Given the description of an element on the screen output the (x, y) to click on. 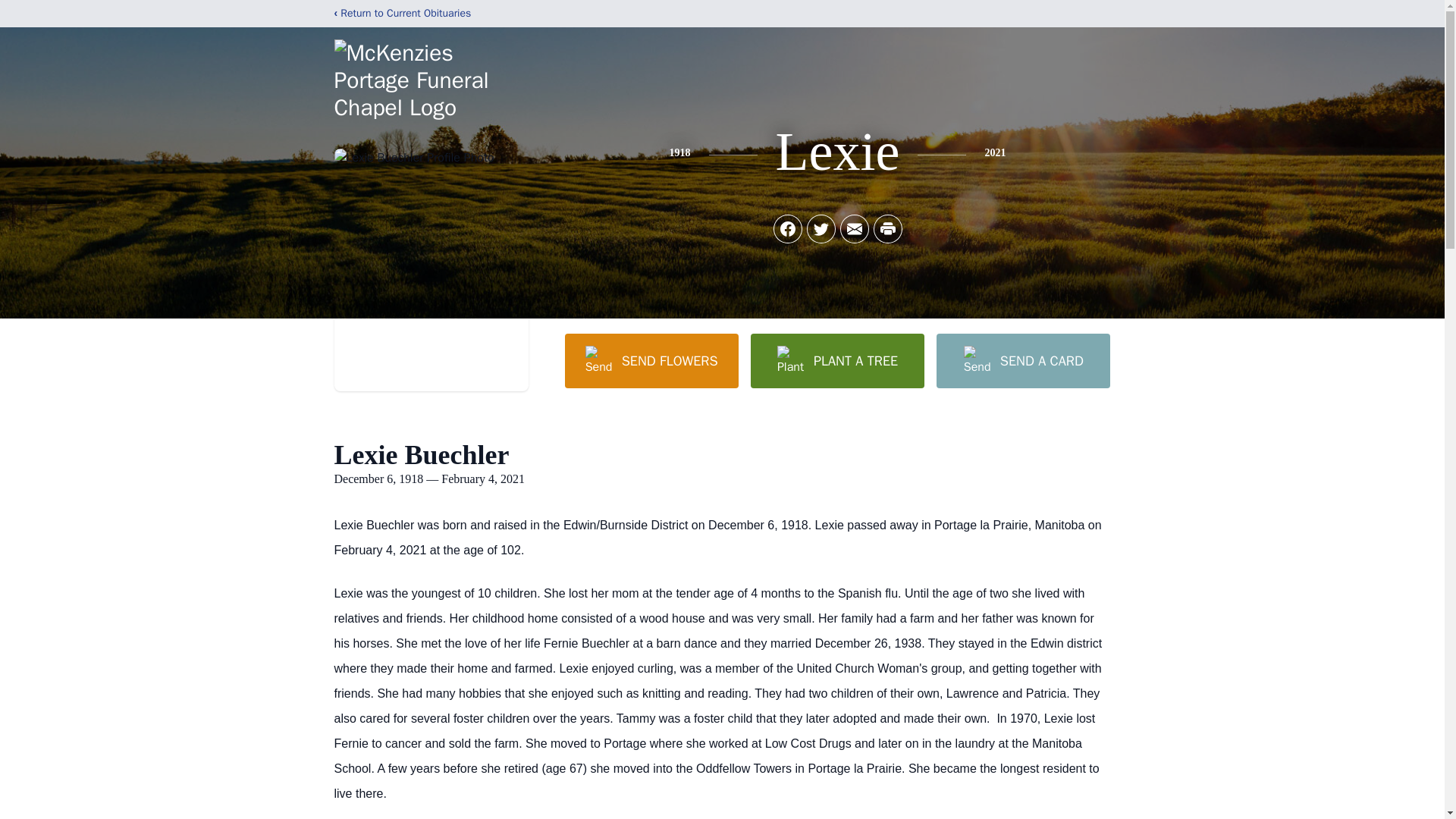
PLANT A TREE (837, 360)
SEND FLOWERS (651, 360)
SEND A CARD (1022, 360)
